Given the description of an element on the screen output the (x, y) to click on. 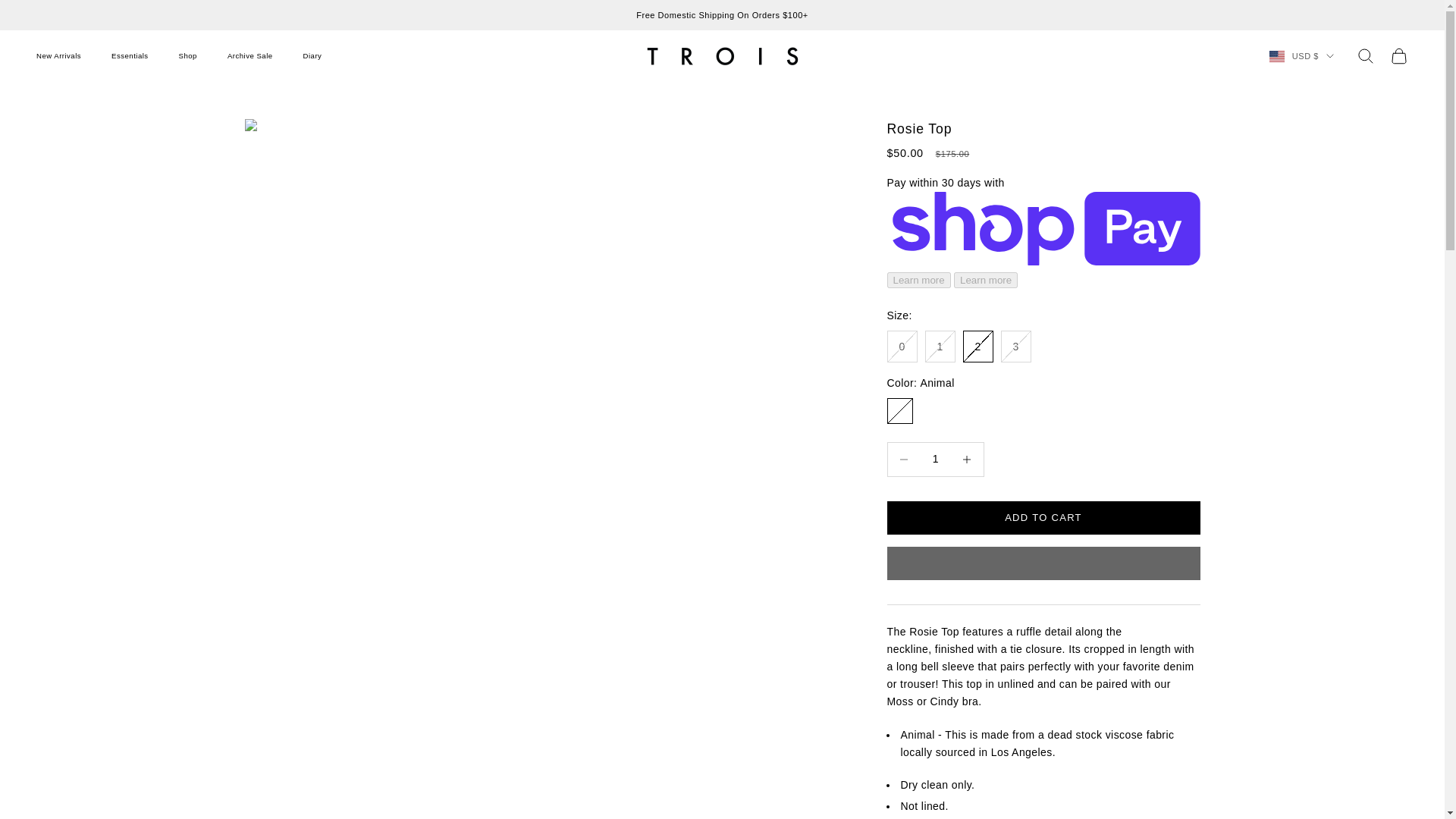
1 (935, 459)
New Arrivals (58, 55)
TROIS (721, 56)
Diary (311, 55)
Essentials (130, 55)
Archive Sale (250, 55)
